Given the description of an element on the screen output the (x, y) to click on. 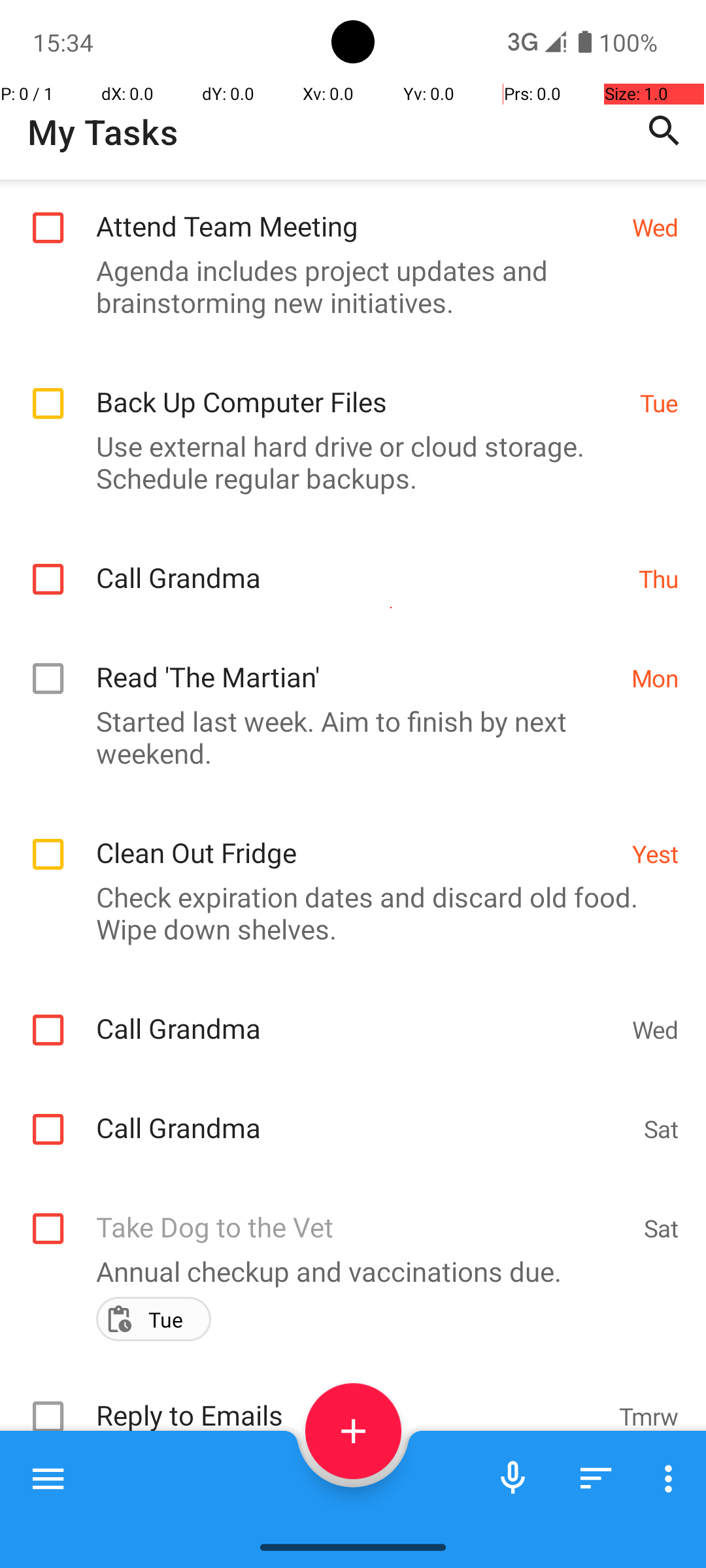
My Tasks Element type: android.widget.TextView (102, 131)
Sort Element type: android.widget.Button (595, 1478)
Create new task Element type: android.widget.ImageButton (353, 1431)
Attend Team Meeting Element type: android.widget.TextView (357, 211)
Agenda includes project updates and brainstorming new initiatives. Element type: android.widget.TextView (346, 285)
Wed Element type: android.widget.TextView (655, 226)
Back Up Computer Files Element type: android.widget.TextView (361, 387)
Use external hard drive or cloud storage. Schedule regular backups. Element type: android.widget.TextView (346, 461)
Tue Element type: android.widget.TextView (659, 402)
Call Grandma Element type: android.widget.TextView (360, 563)
Thu Element type: android.widget.TextView (658, 578)
Read 'The Martian' Element type: android.widget.TextView (356, 662)
Started last week. Aim to finish by next weekend. Element type: android.widget.TextView (346, 736)
Mon Element type: android.widget.TextView (654, 677)
Clean Out Fridge Element type: android.widget.TextView (357, 838)
Check expiration dates and discard old food. Wipe down shelves. Element type: android.widget.TextView (346, 912)
Yest Element type: android.widget.TextView (655, 853)
Sat Element type: android.widget.TextView (661, 1128)
Take Dog to the Vet Element type: android.widget.TextView (363, 1212)
Annual checkup and vaccinations due. Element type: android.widget.TextView (346, 1270)
Reply to Emails Element type: android.widget.TextView (350, 1400)
Tmrw Element type: android.widget.TextView (648, 1415)
Schedule Dentist Appointment Element type: android.widget.TextView (363, 1497)
